Given the description of an element on the screen output the (x, y) to click on. 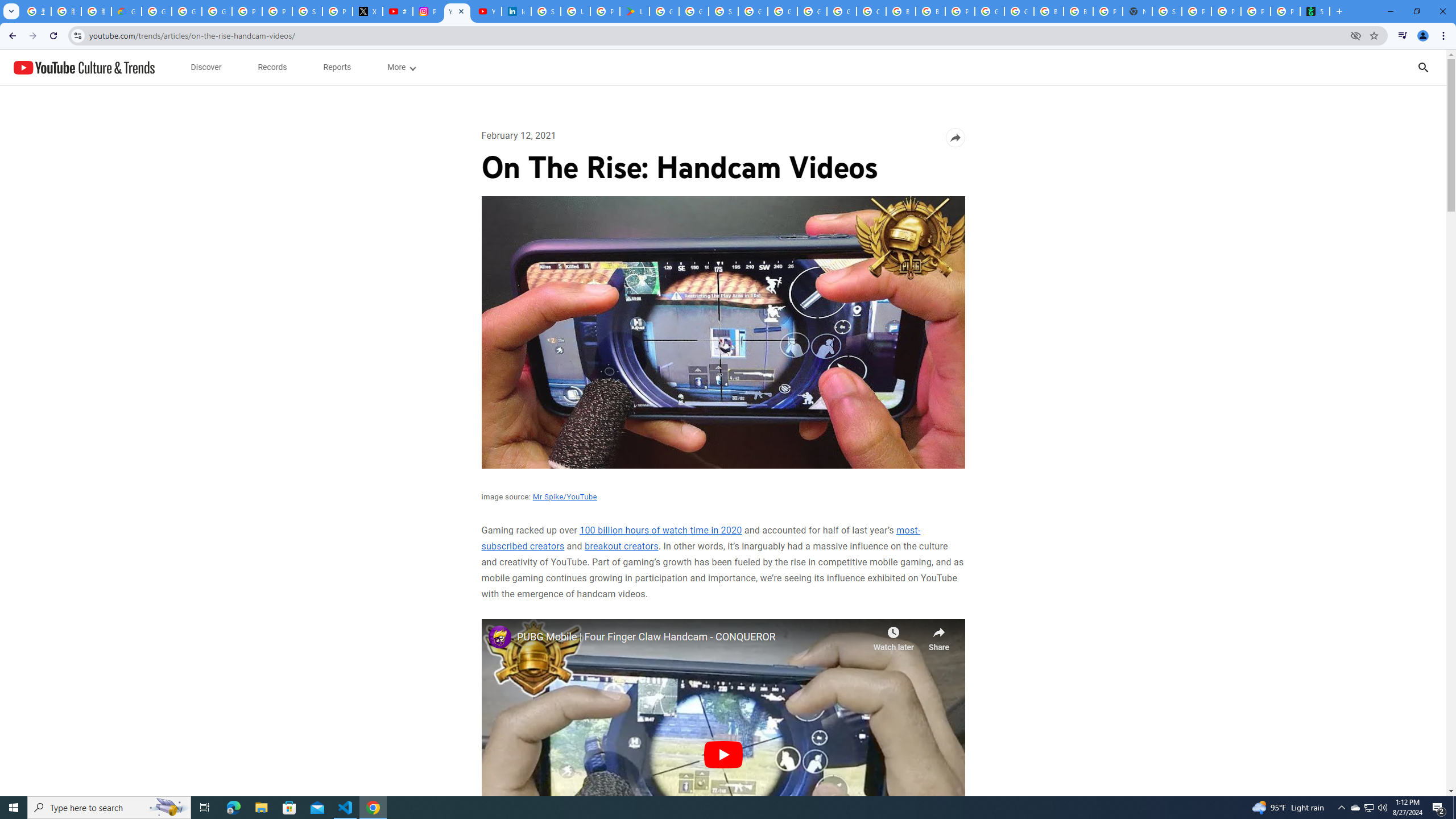
#nbabasketballhighlights - YouTube (397, 11)
Watch later (893, 635)
Privacy Help Center - Policies Help (277, 11)
Mr Spike/YouTube (564, 496)
Share (938, 635)
Browse Chrome as a guest - Computer - Google Chrome Help (1077, 11)
